Given the description of an element on the screen output the (x, y) to click on. 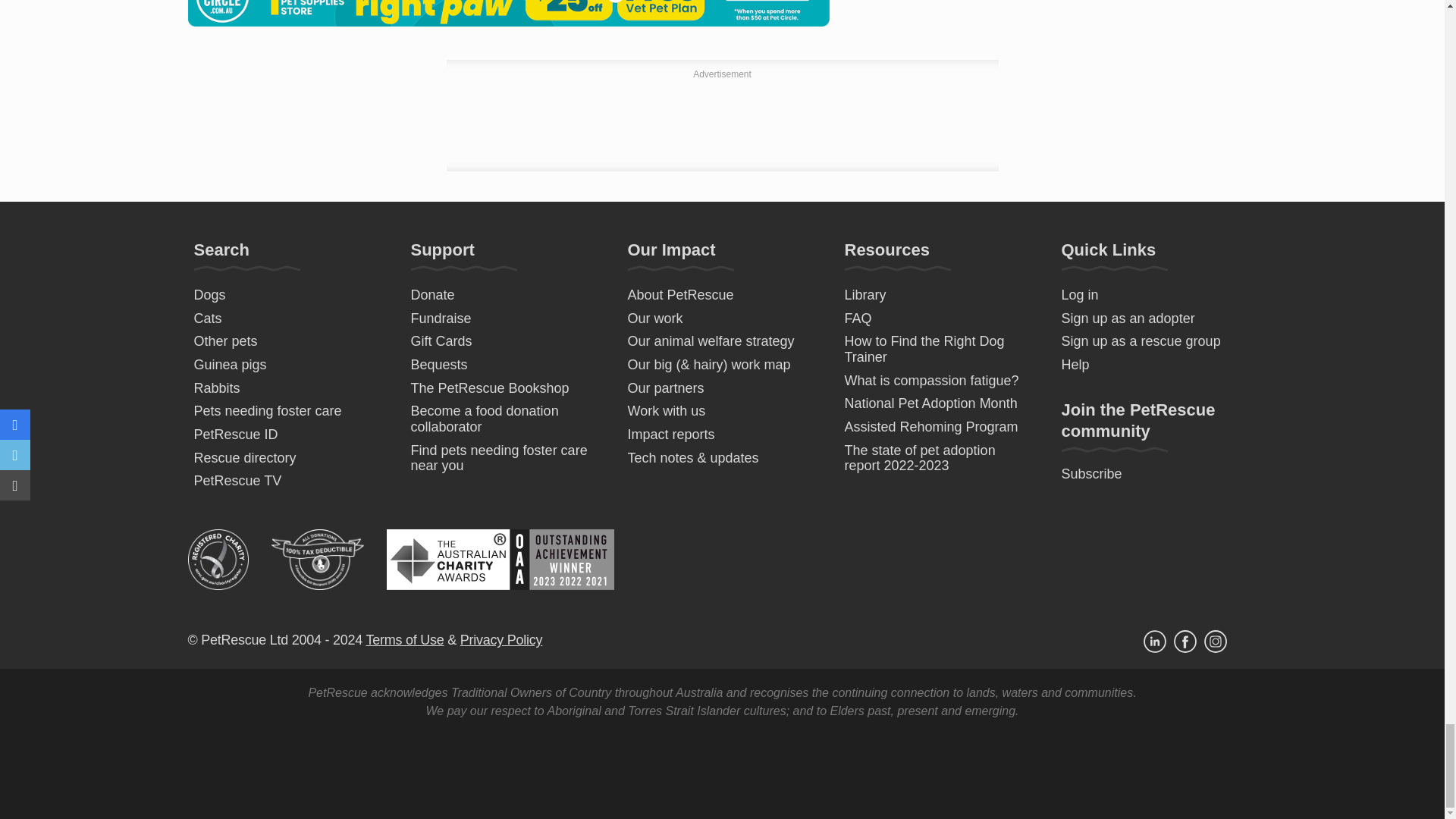
3rd party ad content (721, 121)
